Given the description of an element on the screen output the (x, y) to click on. 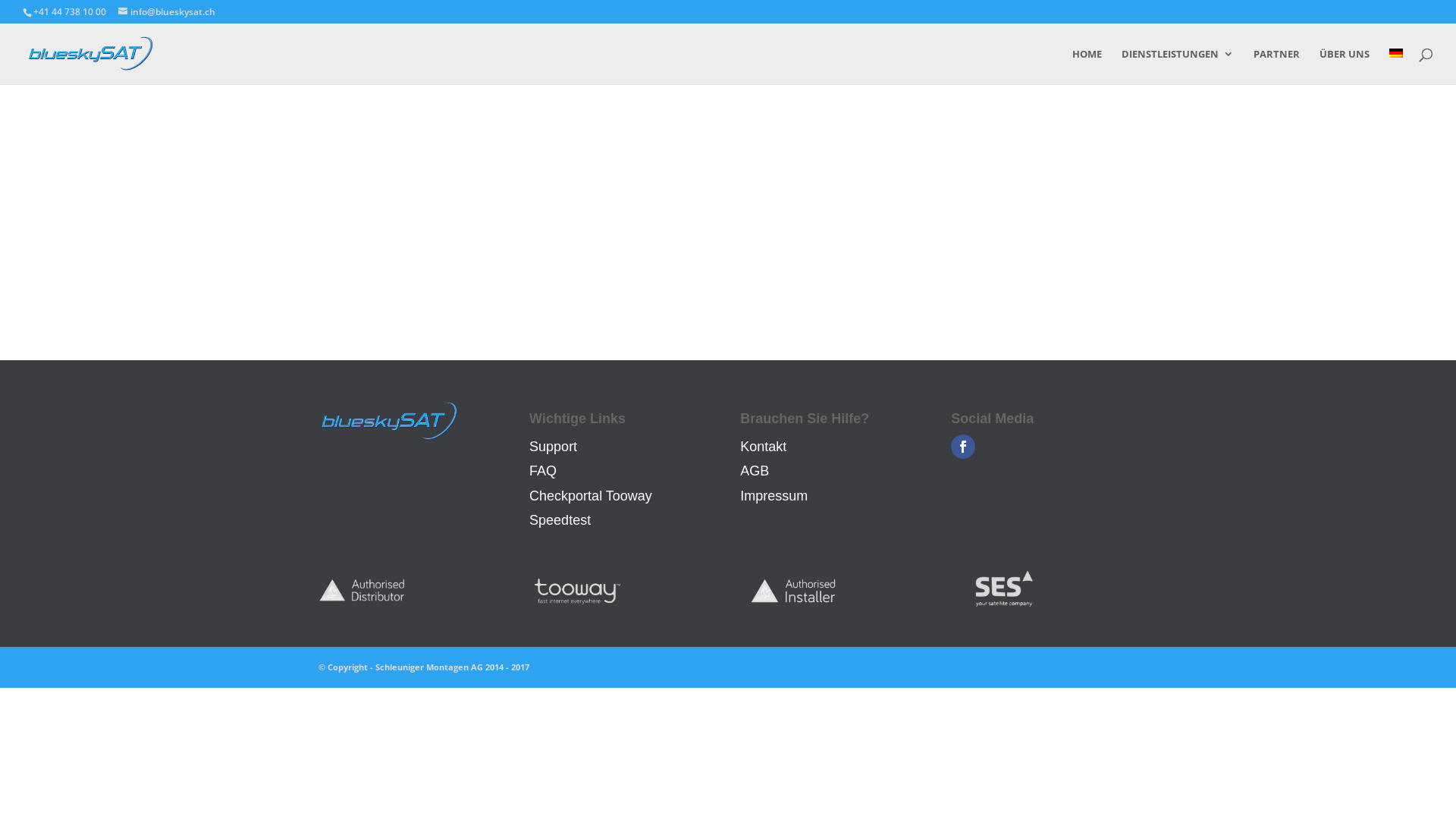
PARTNER Element type: text (1276, 66)
Checkportal Tooway Element type: text (590, 495)
info@blueskysat.ch Element type: text (166, 11)
HOME Element type: text (1086, 66)
Kontakt Element type: text (763, 446)
FAQ Element type: text (542, 470)
Speedtest Element type: text (559, 519)
Support Element type: text (553, 446)
Folge auf Facebook Element type: hover (962, 446)
DIENSTLEISTUNGEN Element type: text (1177, 66)
Impressum Element type: text (773, 495)
AGB Element type: text (754, 470)
